Given the description of an element on the screen output the (x, y) to click on. 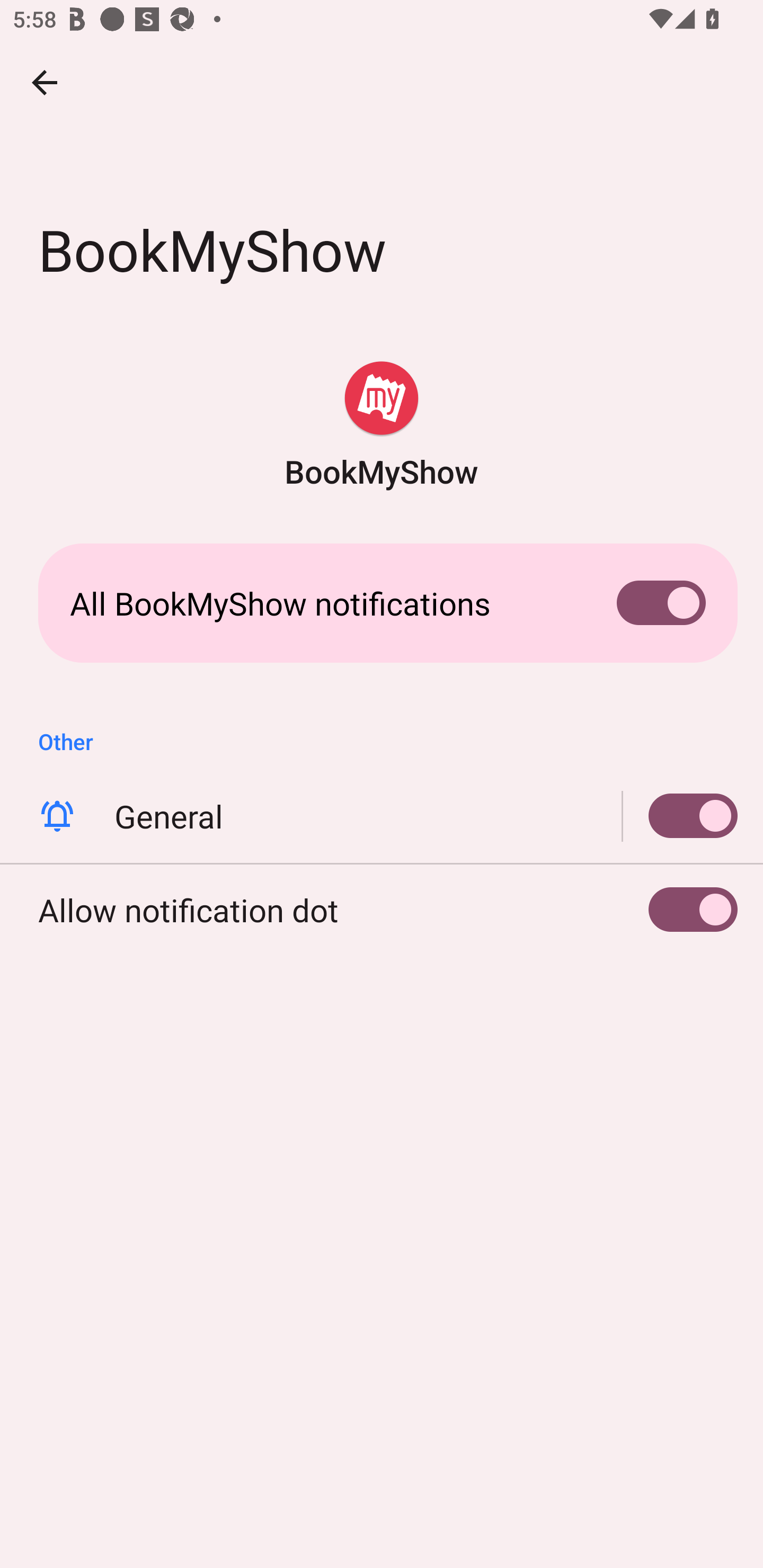
Navigate up (44, 82)
BookMyShow (381, 426)
All BookMyShow notifications (381, 602)
General (381, 815)
General (680, 815)
Allow notification dot (381, 909)
